Given the description of an element on the screen output the (x, y) to click on. 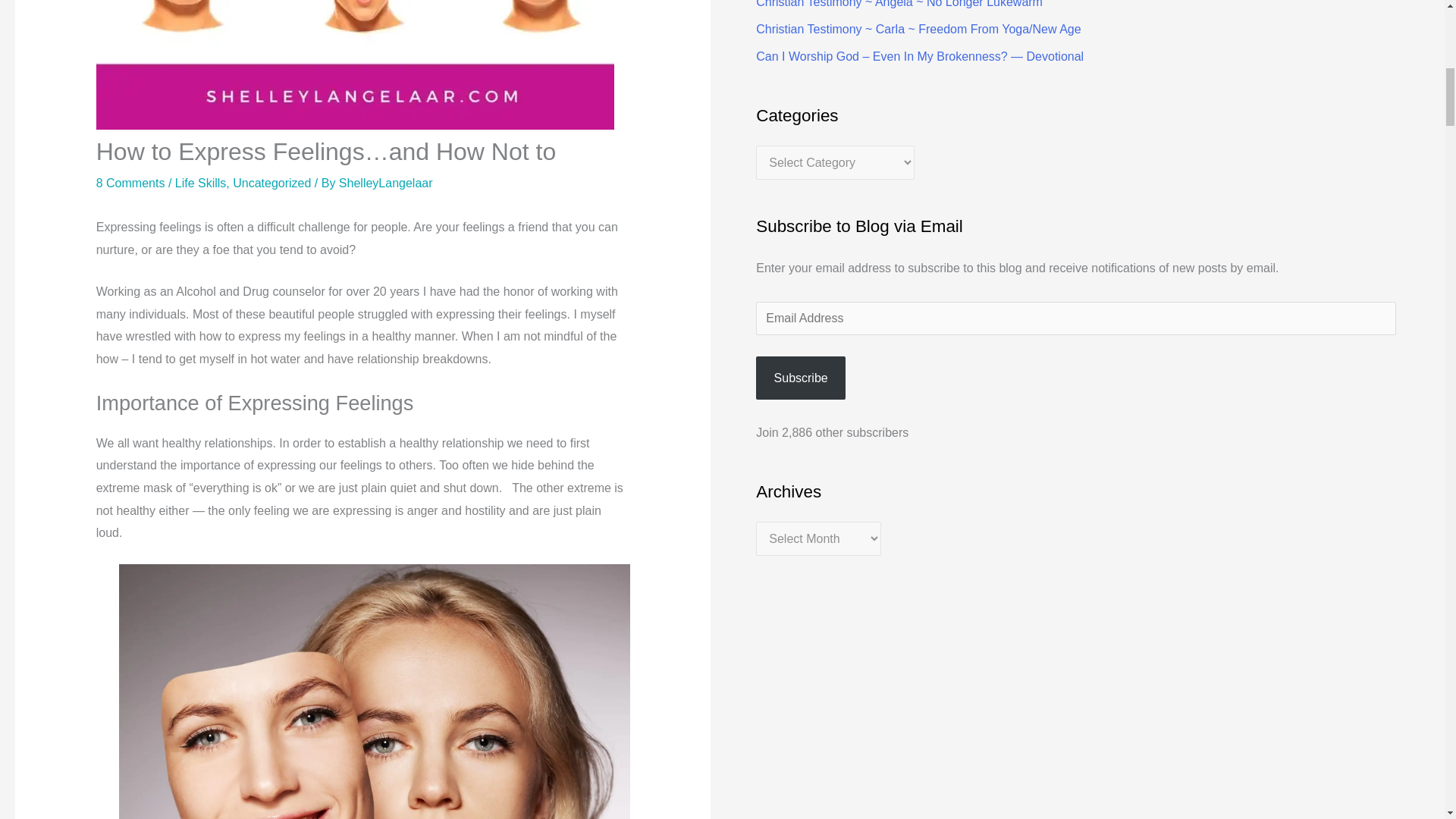
8 Comments (130, 182)
Uncategorized (271, 182)
View all posts by ShelleyLangelaar (385, 182)
ShelleyLangelaar (385, 182)
Life Skills (200, 182)
